Given the description of an element on the screen output the (x, y) to click on. 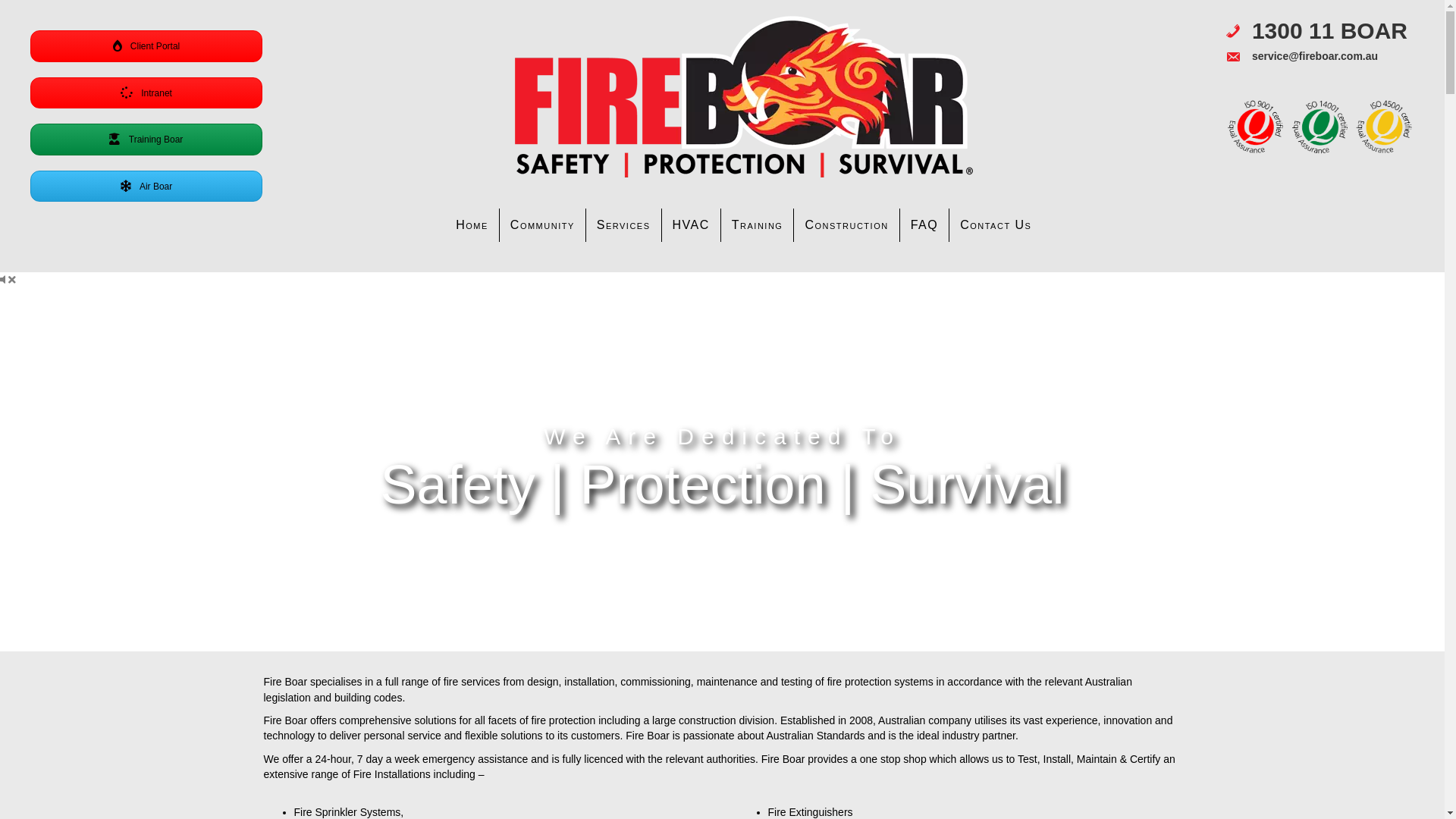
Services Element type: text (623, 224)
SmallRectangle-LogoSPS Element type: hover (743, 96)
Client Portal Element type: text (146, 46)
Home Element type: text (471, 224)
Construction Element type: text (845, 224)
FAQ Element type: text (924, 224)
QLogos Element type: hover (1319, 127)
service@fireboar.com.au Element type: text (1314, 56)
Intranet Element type: text (146, 93)
HVAC Element type: text (691, 224)
Community Element type: text (542, 224)
1300 11 BOAR Element type: text (1329, 31)
Air Boar Element type: text (146, 186)
Contact Us Element type: text (995, 224)
Training Boar Element type: text (146, 139)
Training Element type: text (757, 224)
